Given the description of an element on the screen output the (x, y) to click on. 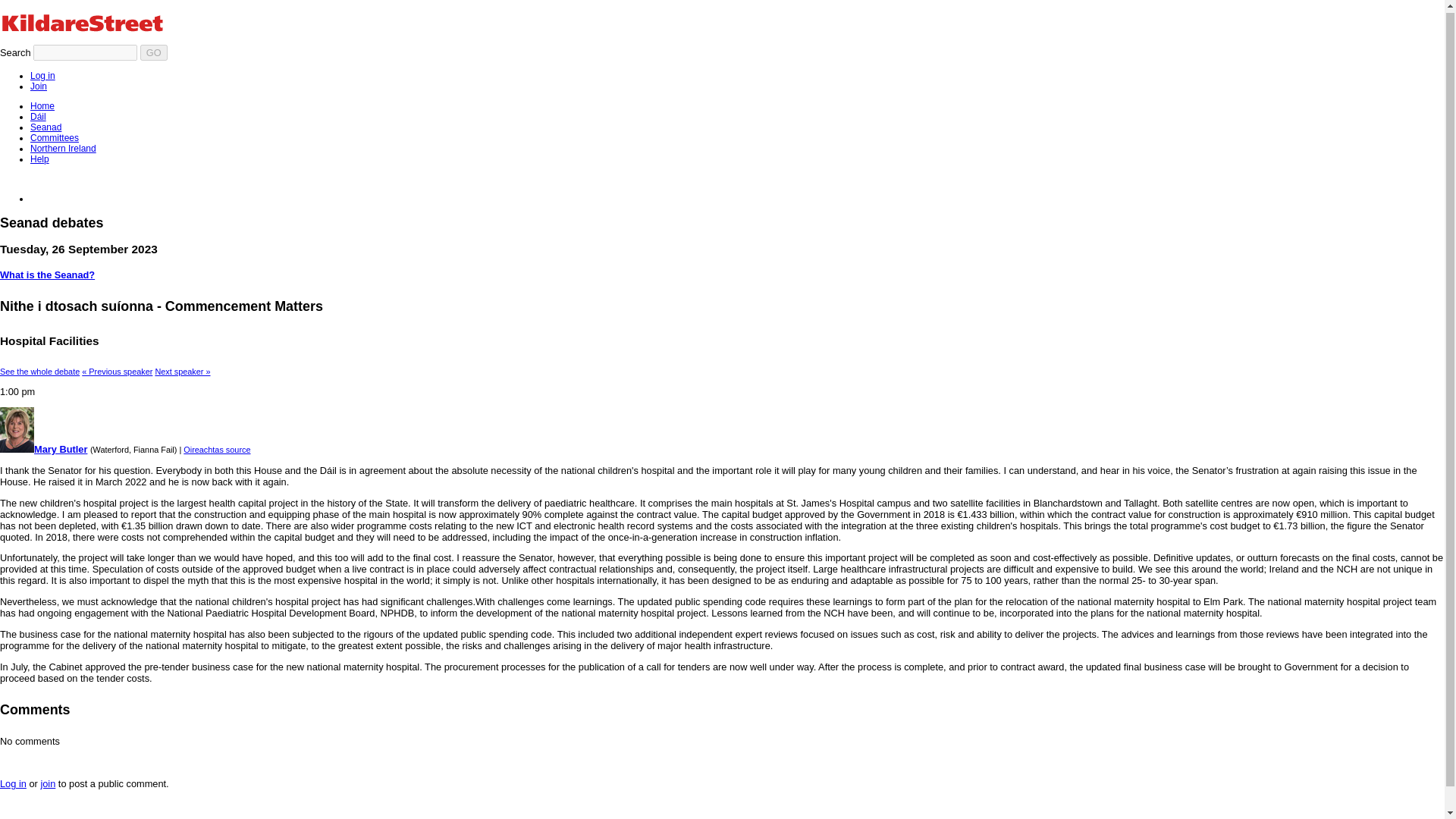
Oireachtas source (216, 449)
Join (38, 86)
Seanad (45, 127)
Log in (13, 783)
Joining is free and allows you to post comments (38, 86)
Home (42, 105)
Mary Butler (43, 449)
Hospital Facilities (40, 370)
GO (153, 52)
Malcolm Byrne (116, 370)
